Given the description of an element on the screen output the (x, y) to click on. 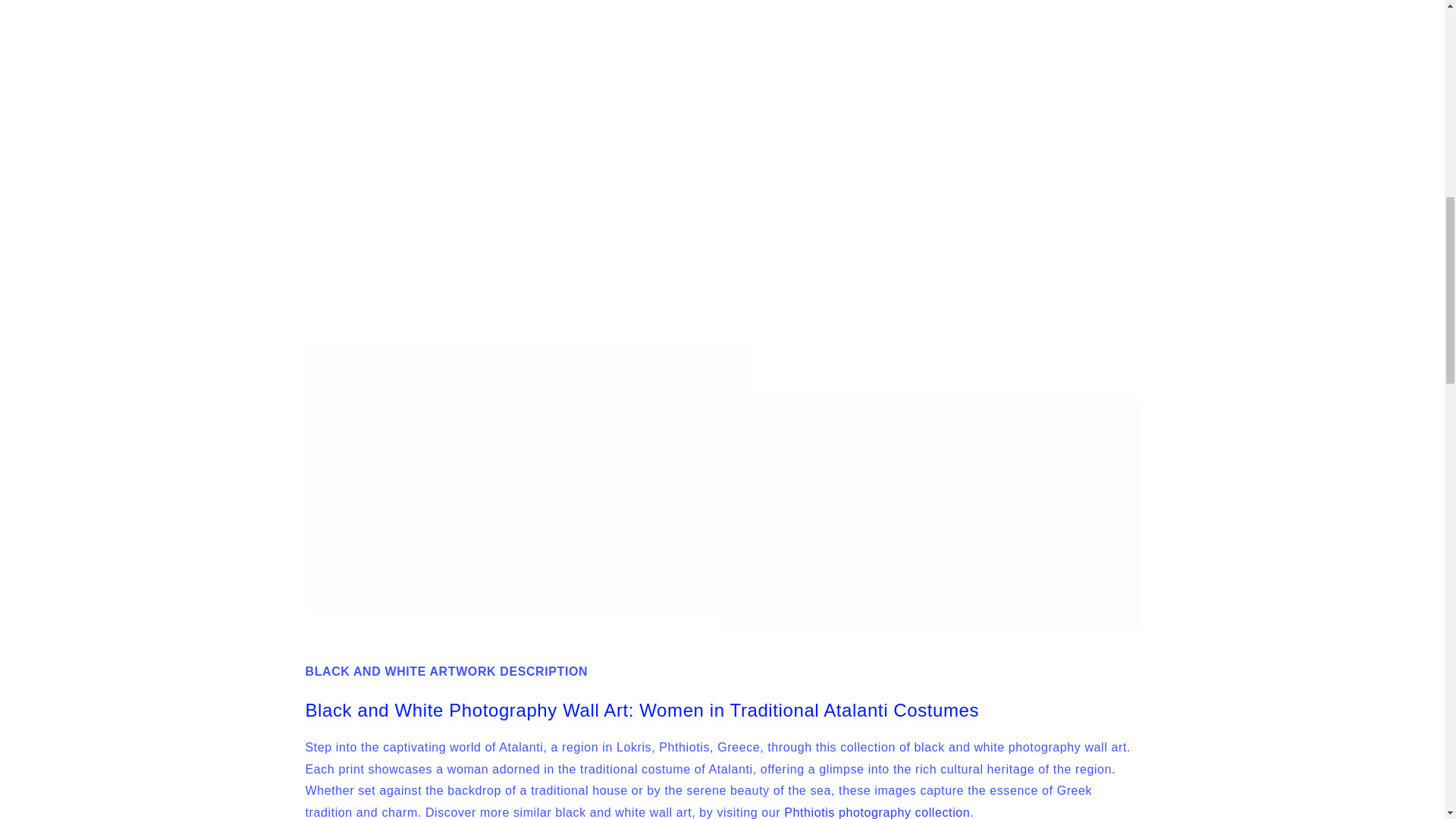
0 (385, 175)
0 (1058, 175)
0 (1058, 77)
0 (722, 77)
0 (385, 77)
0 (890, 77)
